Given the description of an element on the screen output the (x, y) to click on. 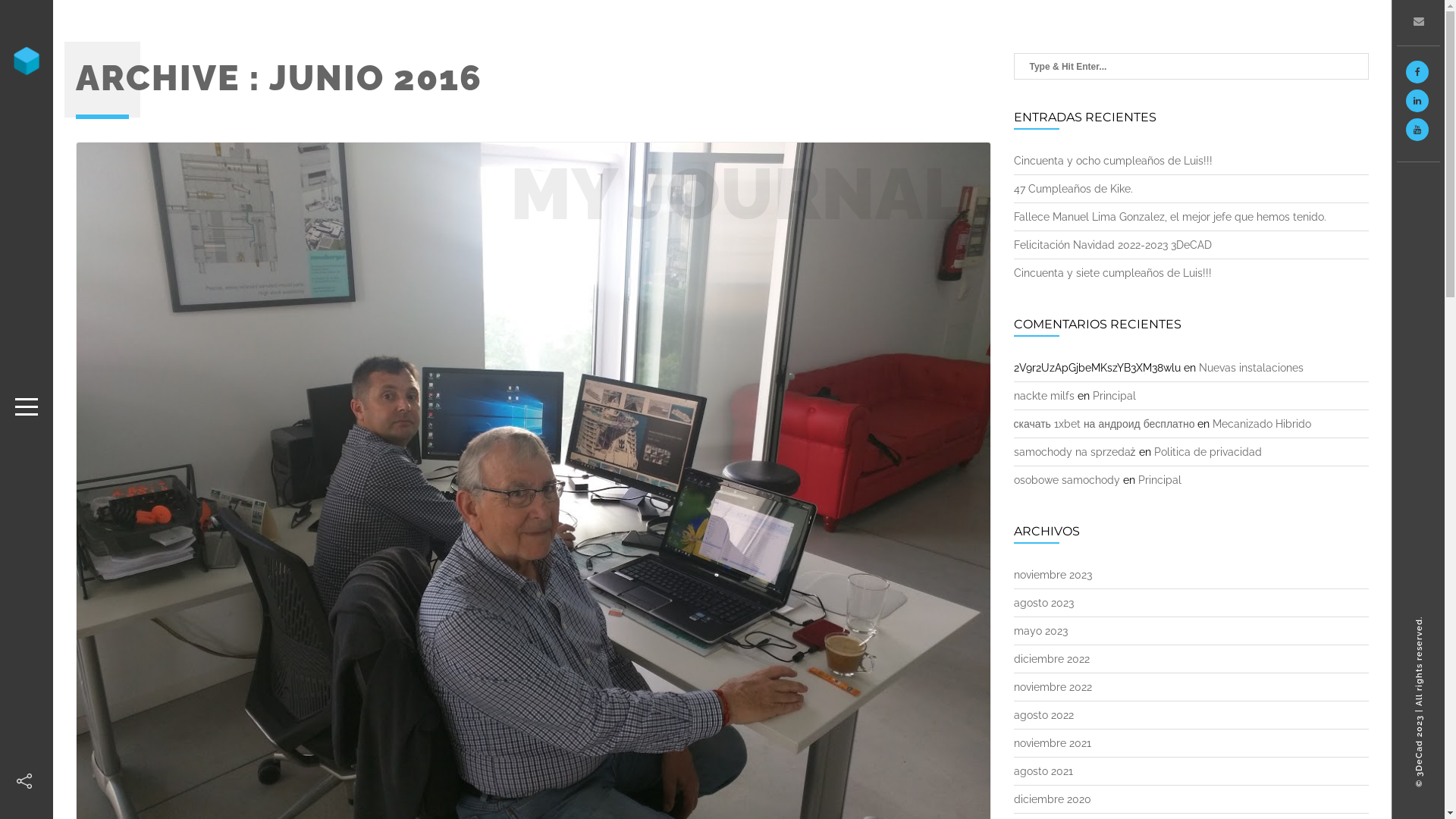
Buscar Element type: text (31, 15)
mayo 2023 Element type: text (1039, 630)
agosto 2021 Element type: text (1042, 771)
noviembre 2023 Element type: text (1052, 574)
Principal Element type: text (1158, 479)
Politica de privacidad Element type: text (1207, 451)
Principal Element type: text (1113, 395)
noviembre 2021 Element type: text (1051, 743)
agosto 2022 Element type: text (1043, 715)
diciembre 2022 Element type: text (1050, 658)
agosto 2023 Element type: text (1043, 602)
diciembre 2020 Element type: text (1051, 799)
Mecanizado Hibrido Element type: text (1261, 423)
osobowe samochody Element type: text (1066, 479)
Nuevas instalaciones Element type: text (1250, 367)
noviembre 2022 Element type: text (1052, 686)
nackte milfs Element type: text (1043, 395)
